Given the description of an element on the screen output the (x, y) to click on. 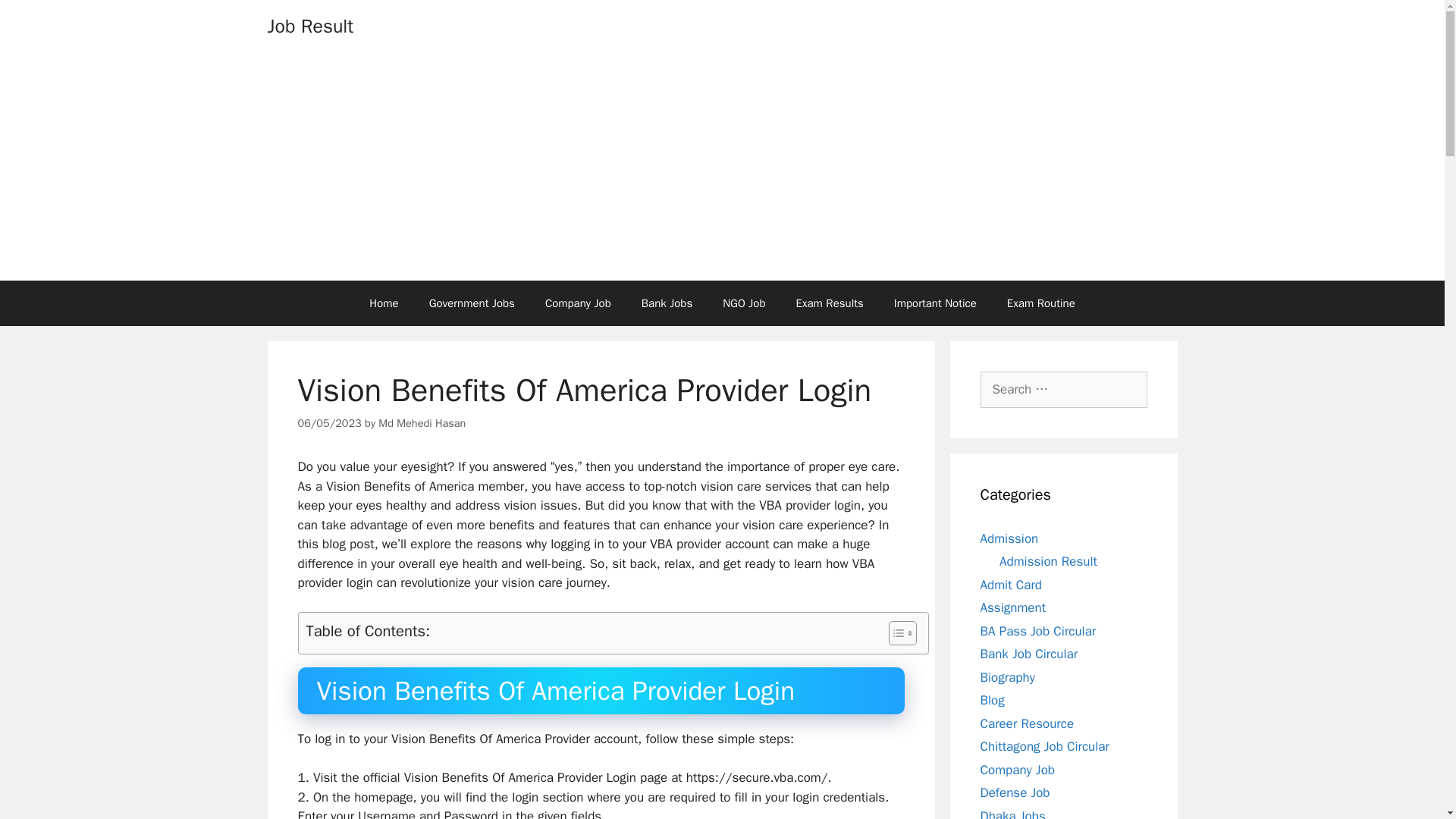
Company Job (577, 302)
BA Pass Job Circular (1037, 631)
Bank Jobs (666, 302)
Search (35, 18)
Home (383, 302)
Admission Result (1047, 561)
Exam Results (829, 302)
Important Notice (935, 302)
Admission (1008, 538)
Bank Job Circular (1028, 653)
Exam Routine (1040, 302)
Admit Card (1010, 584)
Assignment (1012, 607)
Government Jobs (471, 302)
